Given the description of an element on the screen output the (x, y) to click on. 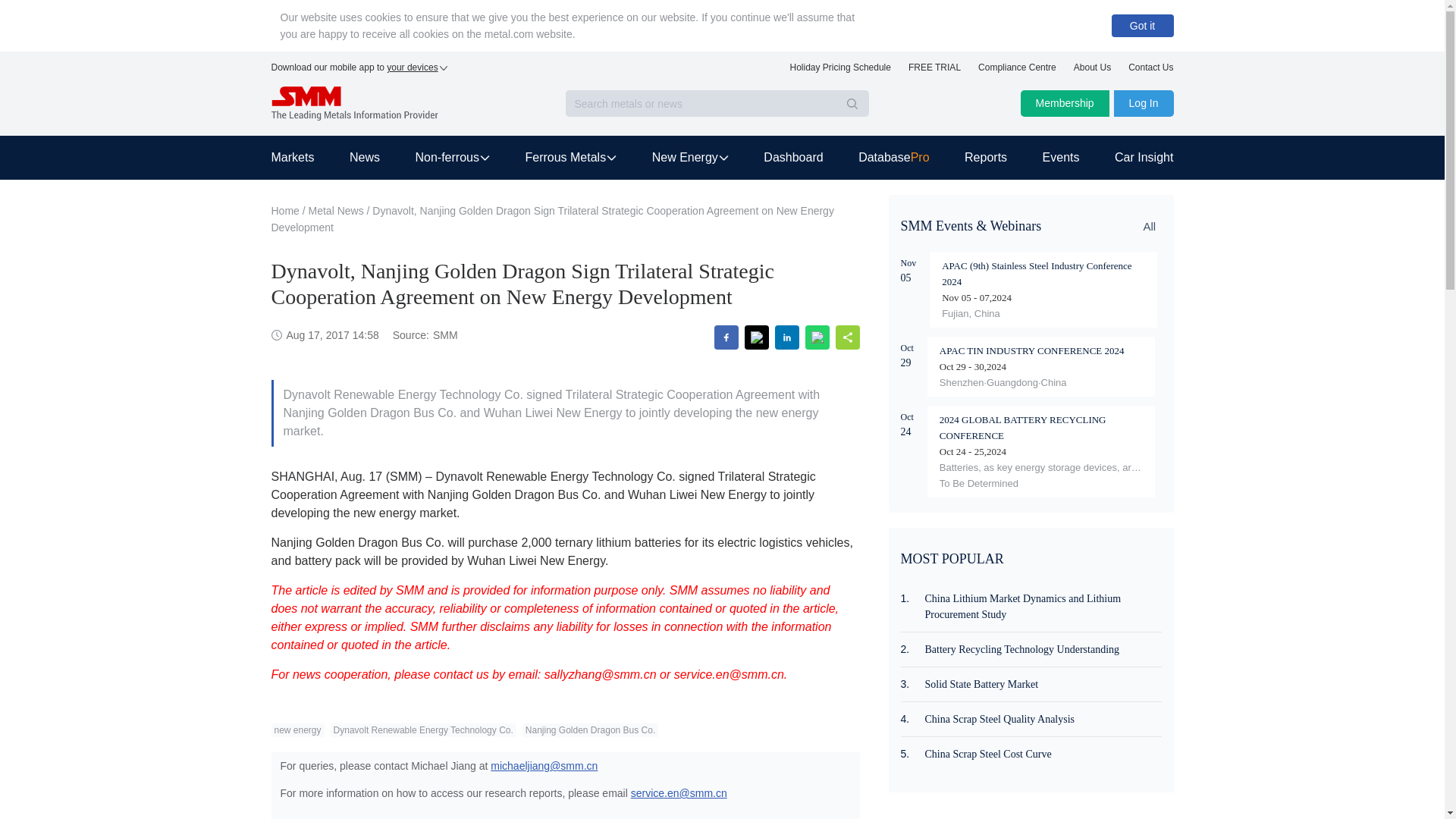
Holiday Pricing Schedule (840, 71)
Metal News (336, 210)
FREE TRIAL (934, 71)
Reports (986, 157)
News (364, 157)
Home (284, 210)
Contact Us (1150, 71)
Events (1061, 157)
Log In (1143, 103)
Dashboard (792, 157)
Markets (300, 157)
DatabasePro (893, 157)
About Us (1092, 71)
Membership (1064, 103)
Car Insight (1135, 157)
